Given the description of an element on the screen output the (x, y) to click on. 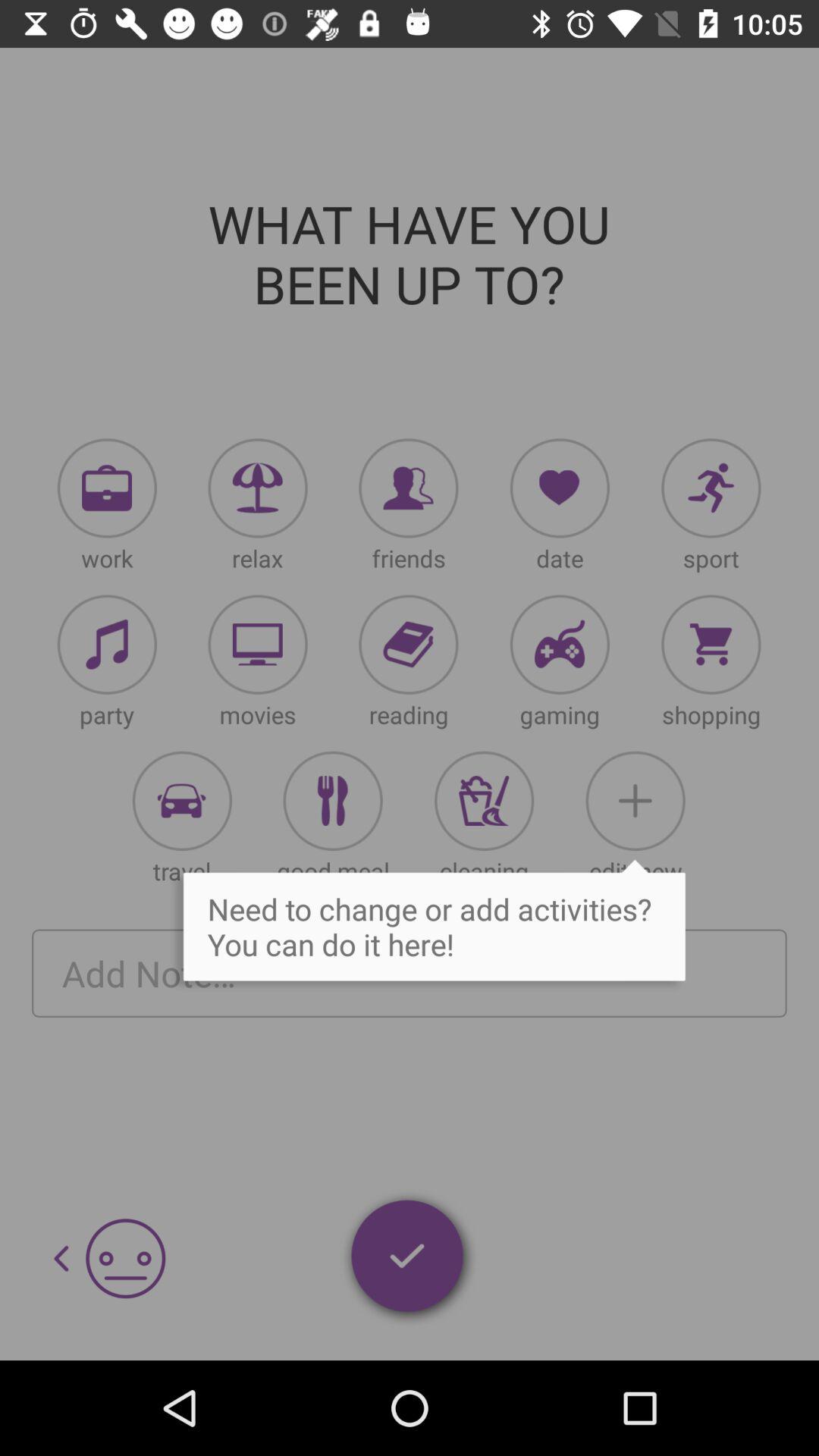
choose sport (710, 488)
